Given the description of an element on the screen output the (x, y) to click on. 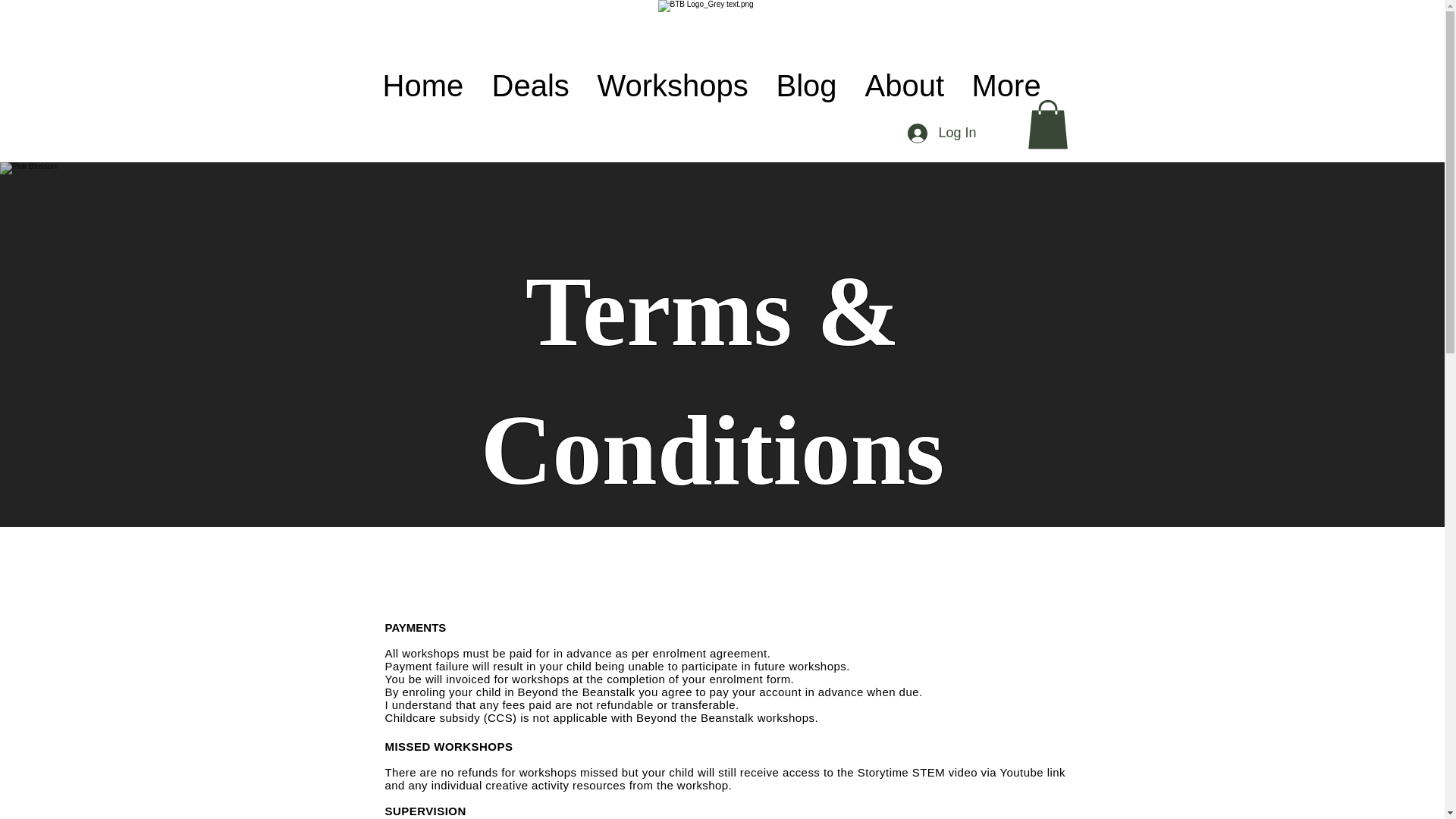
Log In (941, 133)
Home (428, 85)
Deals (536, 85)
About (910, 85)
Blog (812, 85)
Workshops (678, 85)
